Given the description of an element on the screen output the (x, y) to click on. 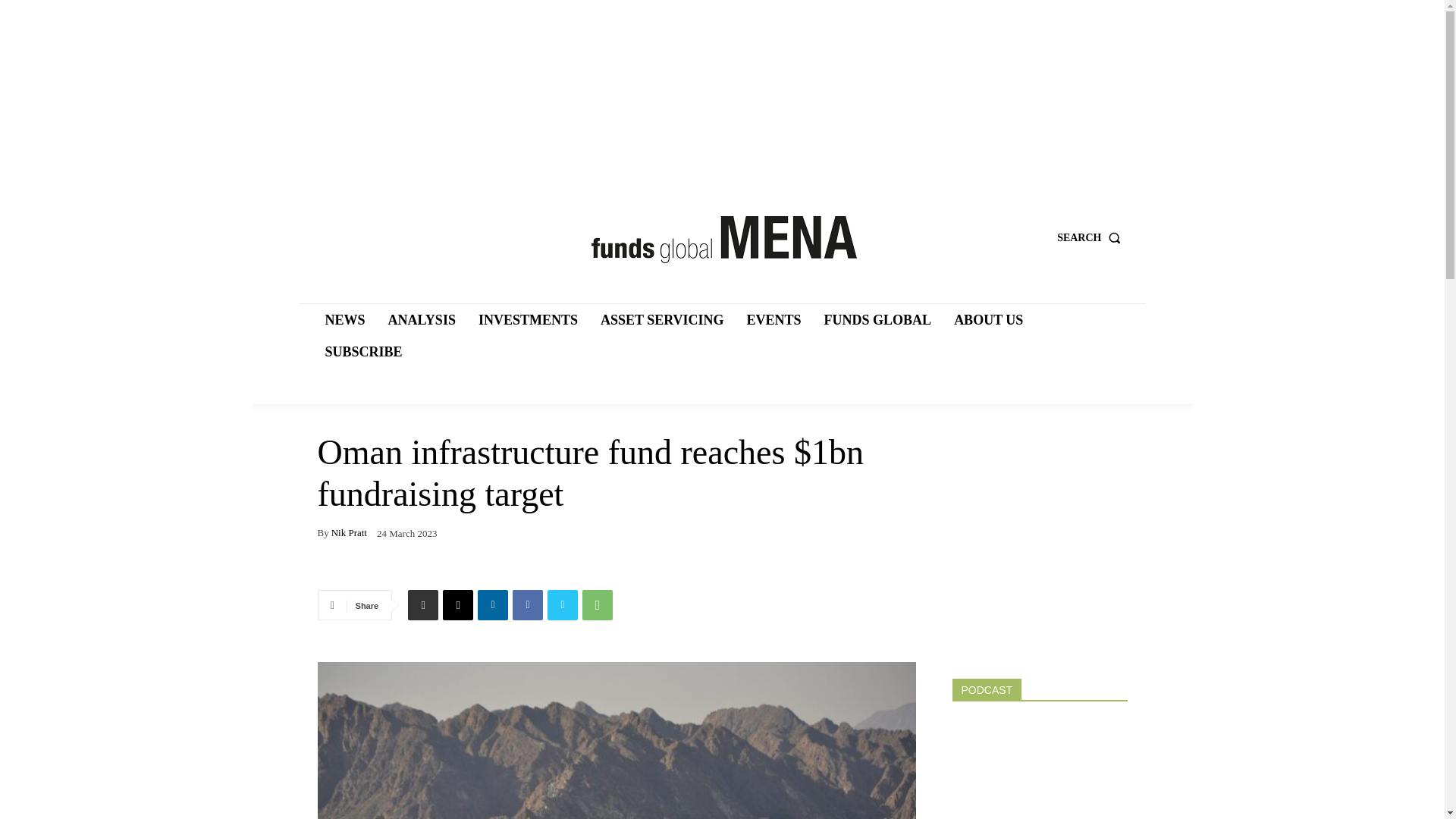
INVESTMENTS (527, 319)
Print (422, 604)
Linkedin (492, 604)
ANALYSIS (421, 319)
SEARCH (1091, 237)
Twitter (562, 604)
Facebook (527, 604)
NEWS (344, 319)
WhatsApp (597, 604)
Email (457, 604)
